Given the description of an element on the screen output the (x, y) to click on. 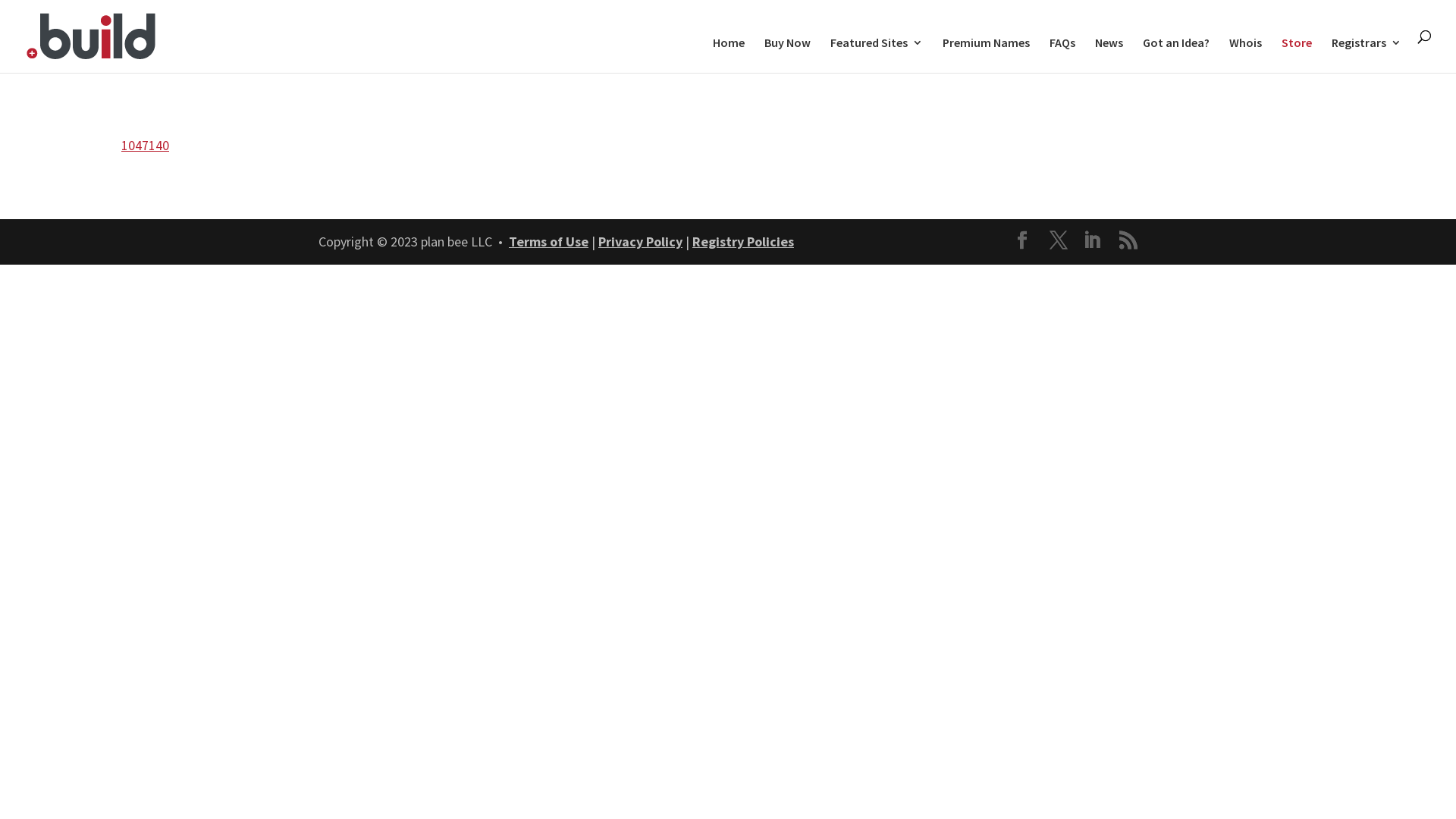
Whois Element type: text (1245, 54)
1047140 Element type: text (145, 144)
Skip to content Element type: text (0, 0)
FAQs Element type: text (1062, 54)
Terms of Use Element type: text (548, 241)
Featured Sites Element type: text (876, 54)
Privacy Policy Element type: text (640, 241)
Got an Idea? Element type: text (1175, 54)
Home Element type: text (728, 54)
Premium Names Element type: text (985, 54)
Store Element type: text (1296, 54)
News Element type: text (1109, 54)
Registry Policies Element type: text (742, 241)
Buy Now Element type: text (787, 54)
Registrars Element type: text (1366, 54)
